Given the description of an element on the screen output the (x, y) to click on. 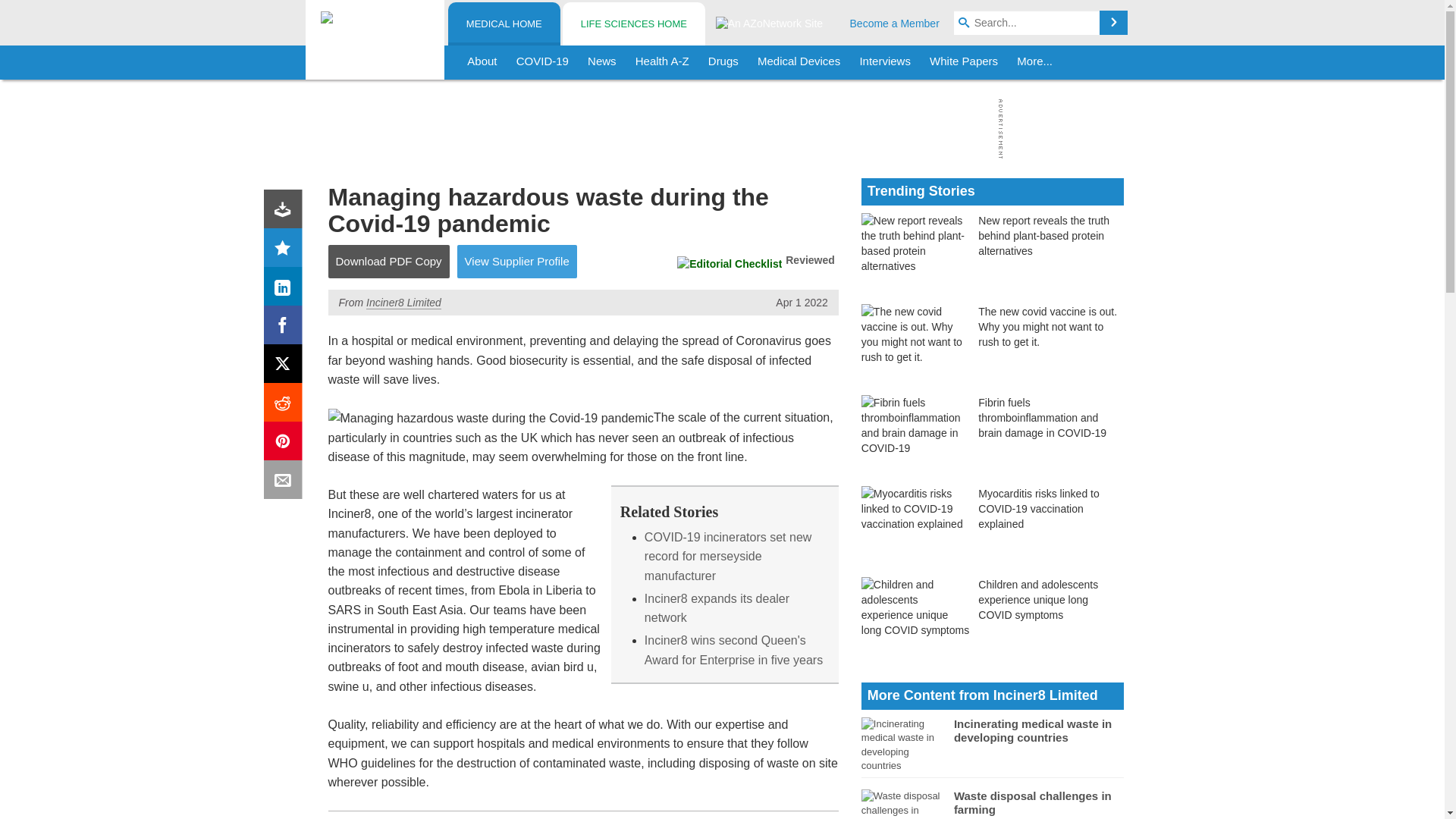
MEDICAL HOME (504, 23)
Rating (285, 250)
Download PDF copy (285, 212)
Medical Devices (798, 62)
Pinterest (285, 443)
Facebook (285, 328)
News (601, 62)
Health A-Z (662, 62)
Managing hazardous waste during the Covid-19 pandemic (490, 417)
More... (1035, 62)
